Given the description of an element on the screen output the (x, y) to click on. 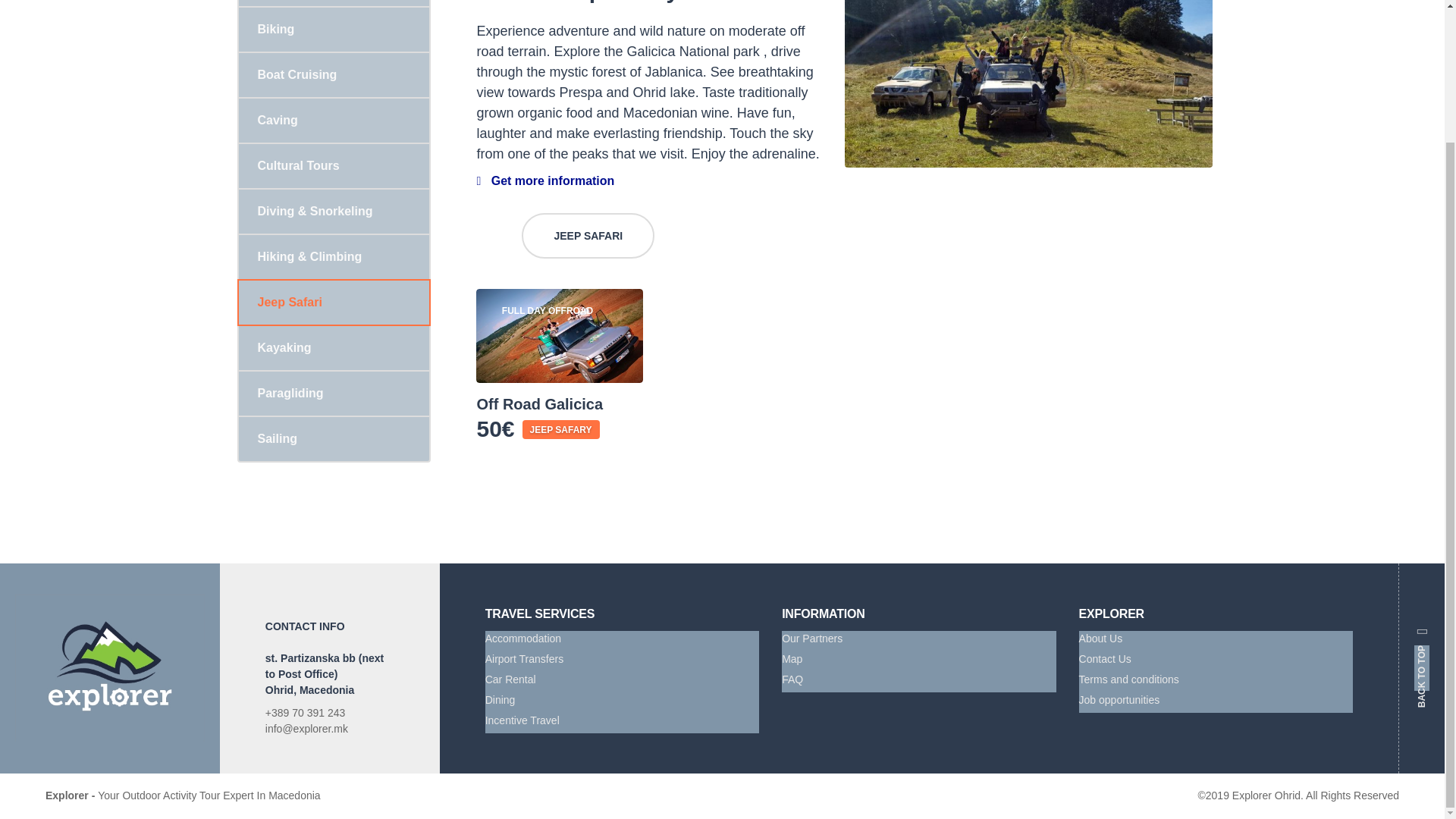
Boat Cruising (333, 74)
JEEP SAFARI (587, 235)
Off Road Galicica (559, 403)
Kayaking (333, 347)
Accommodation (621, 640)
Paragliding (333, 392)
Cultural Tours (333, 165)
  Get more information (545, 180)
Biking (333, 28)
Caving (333, 119)
